Given the description of an element on the screen output the (x, y) to click on. 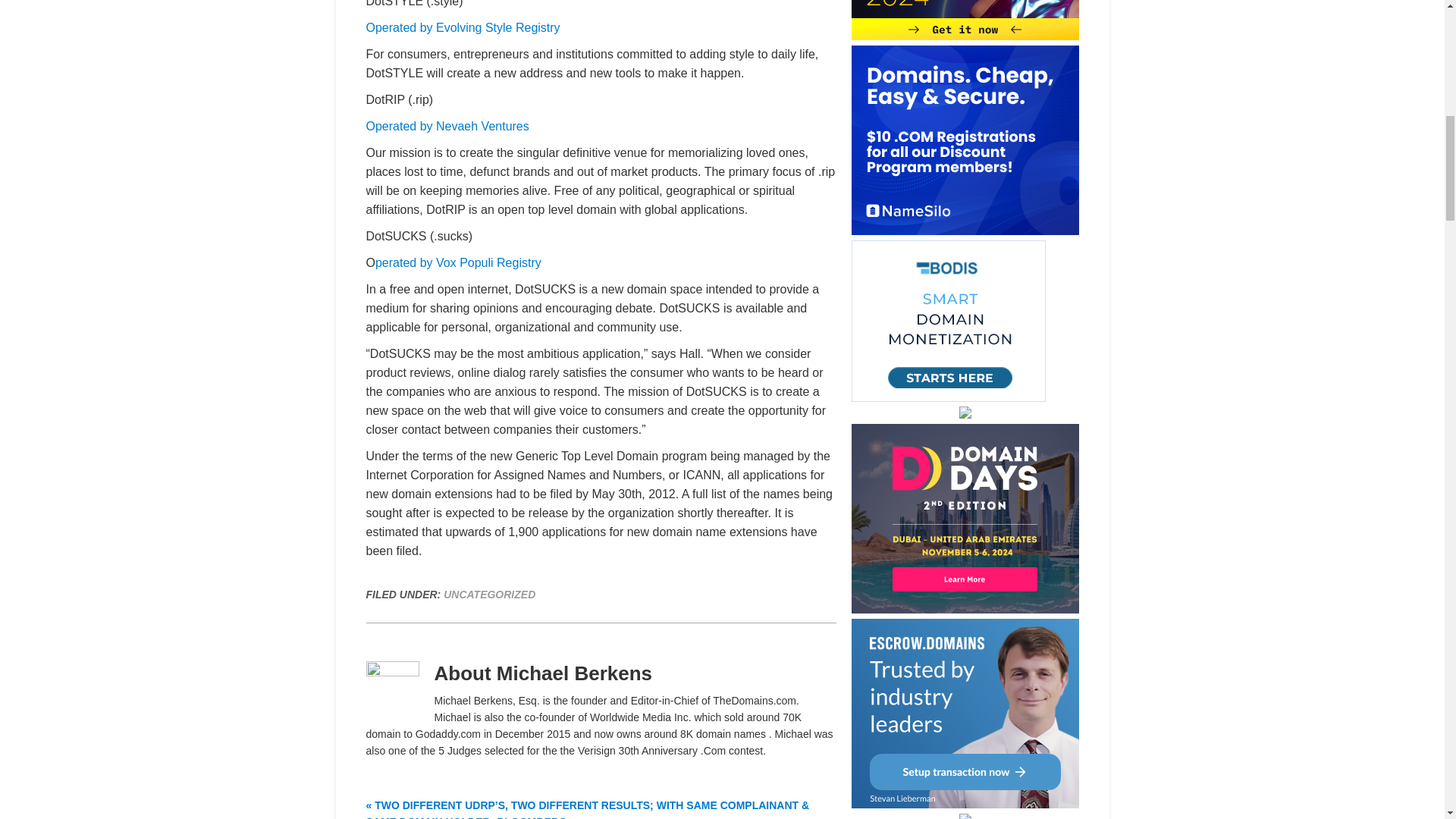
UNCATEGORIZED (489, 594)
perated by Vox Populi Registry (458, 262)
Operated by Evolving Style Registry (462, 27)
Operated by Nevaeh Ventures (446, 125)
